Given the description of an element on the screen output the (x, y) to click on. 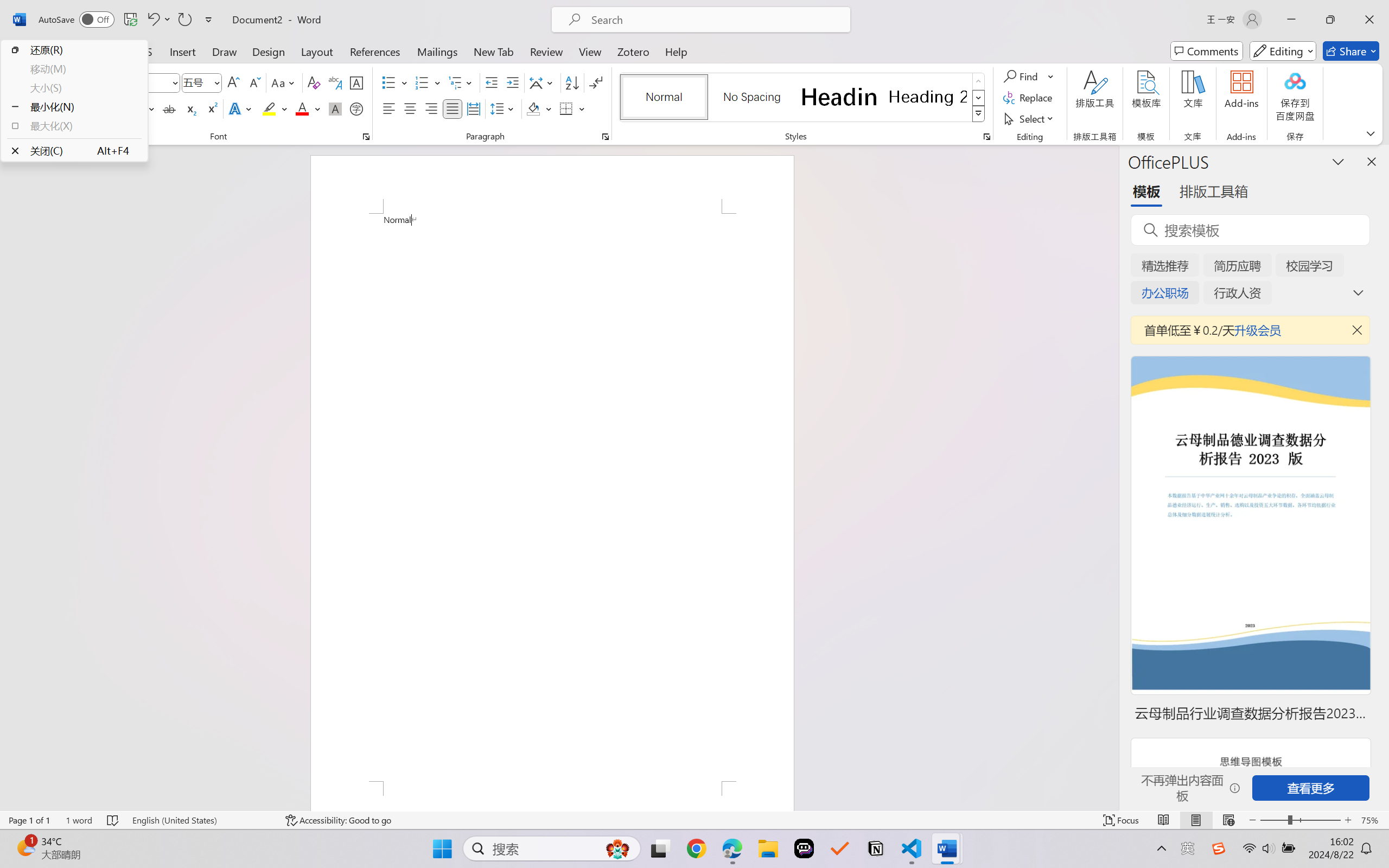
Class: MsoCommandBar (694, 819)
Font... (365, 136)
View (589, 51)
Insert (182, 51)
Styles... (986, 136)
Format Painter (60, 118)
Draw (224, 51)
Office Clipboard... (70, 136)
Comments (1206, 50)
Clear Formatting (313, 82)
Read Mode (1163, 819)
Center (409, 108)
Design (268, 51)
Styles (978, 113)
